Given the description of an element on the screen output the (x, y) to click on. 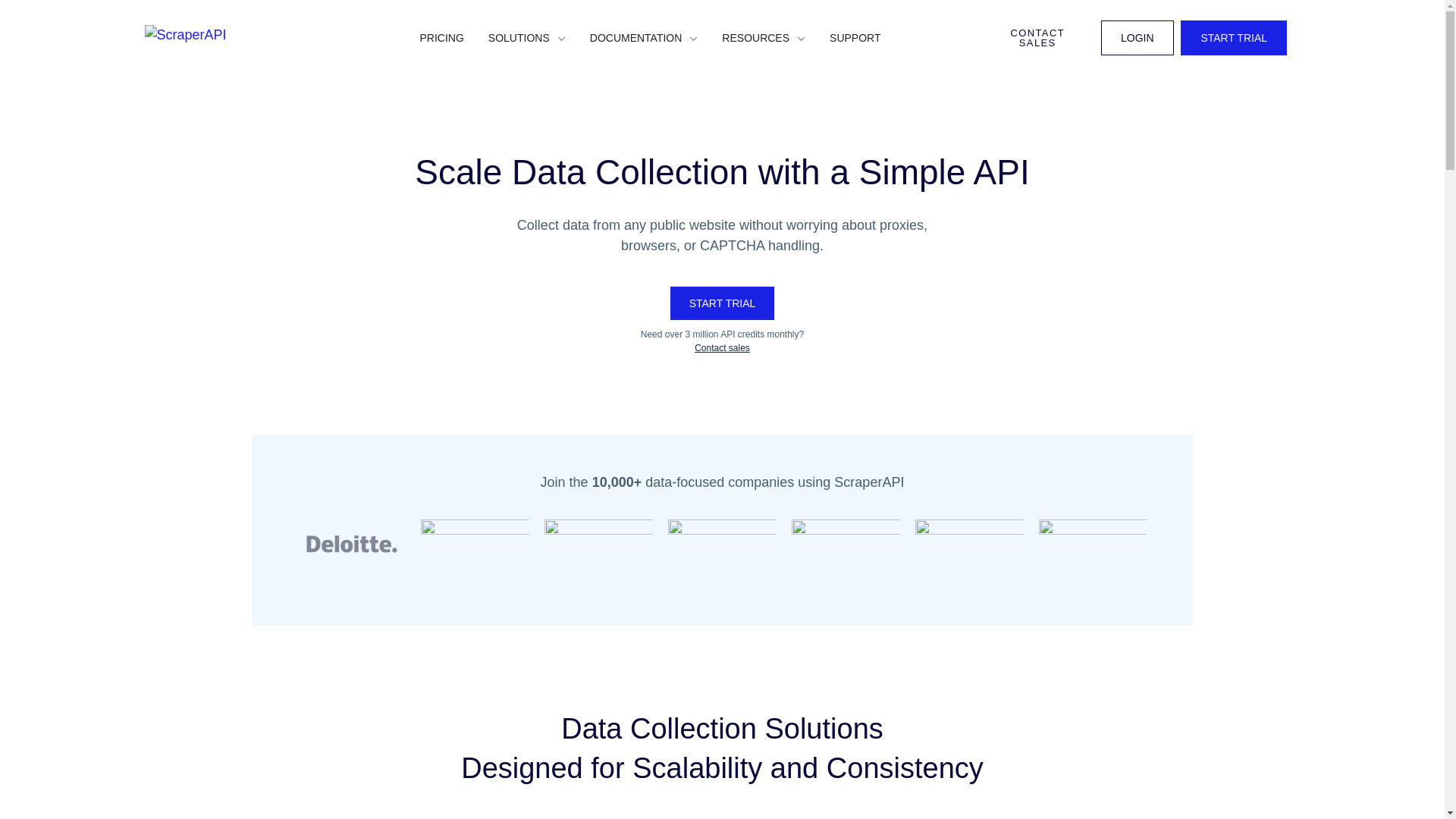
SOLUTIONS (518, 37)
SUPPORT (854, 37)
DOCUMENTATION (635, 37)
PRICING (442, 37)
RESOURCES (755, 37)
